Given the description of an element on the screen output the (x, y) to click on. 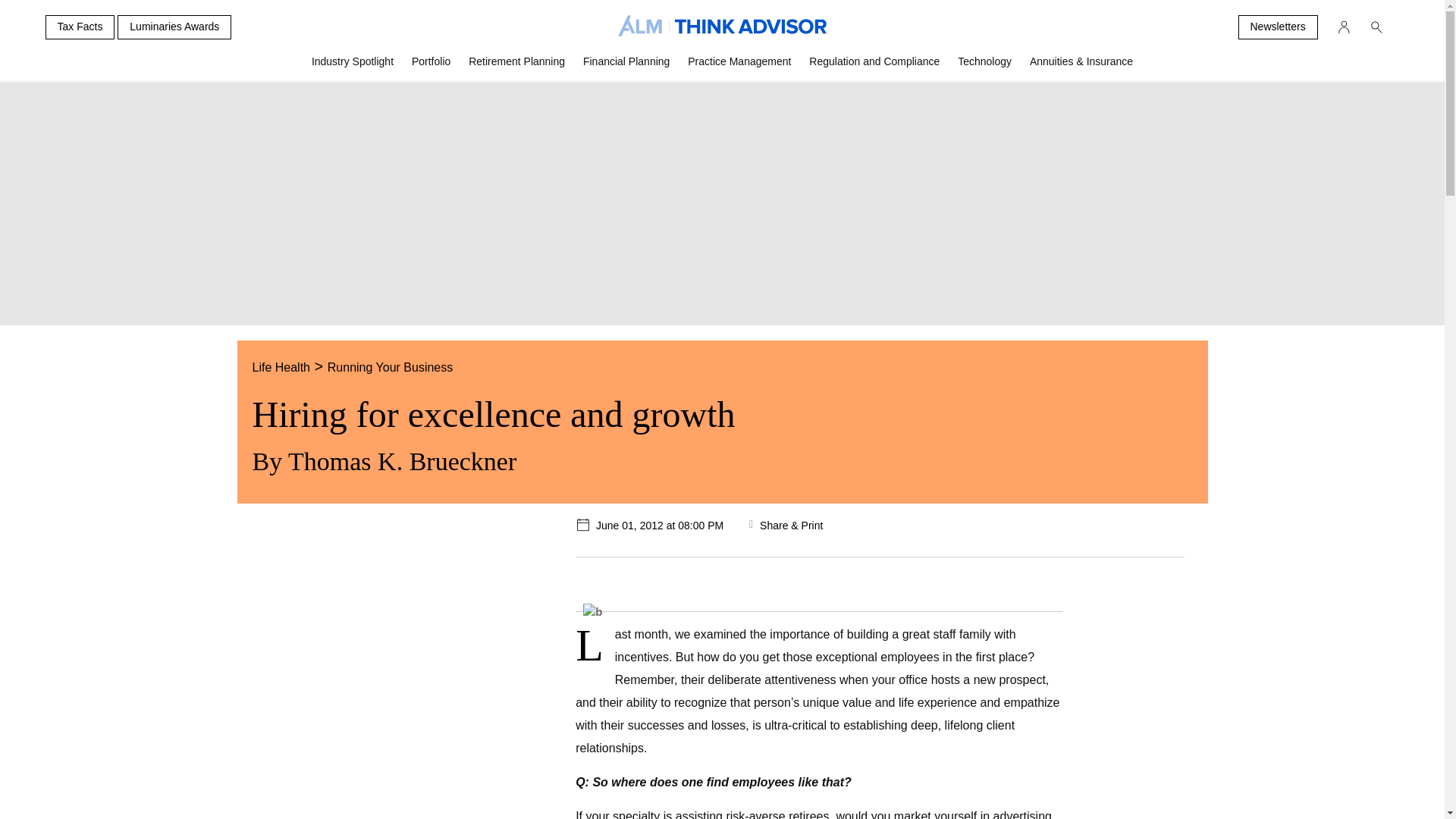
Luminaries Awards (174, 27)
Industry Spotlight (352, 67)
Tax Facts (80, 27)
Newsletters (1277, 27)
